Given the description of an element on the screen output the (x, y) to click on. 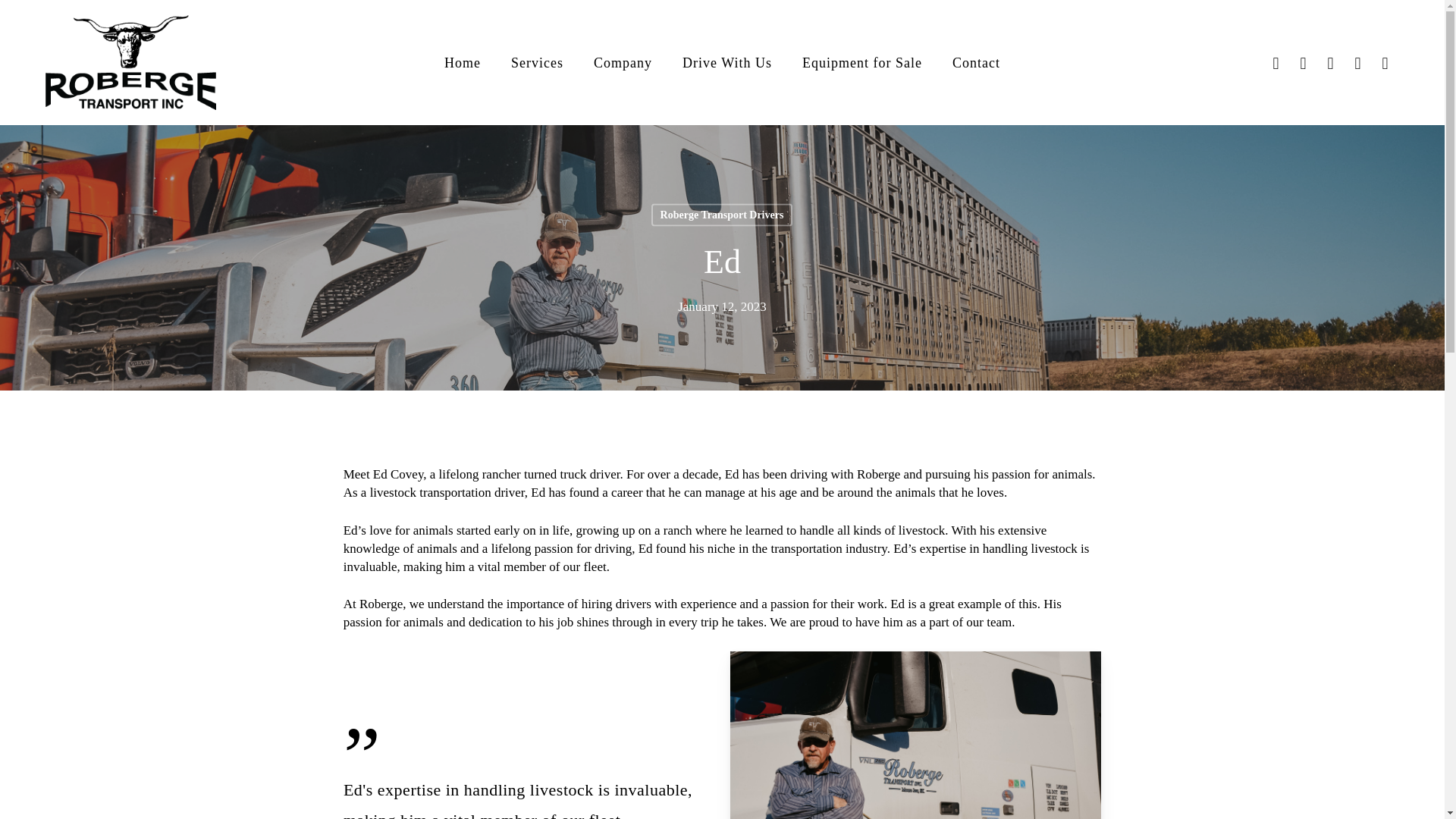
instagram (1357, 63)
Equipment for Sale (861, 62)
Company (623, 62)
Home (462, 62)
Services (537, 62)
Roberge Transport Drivers (721, 214)
youtube (1330, 63)
linkedin (1303, 63)
facebook (1276, 63)
Contact (976, 62)
tiktok (1385, 63)
Drive With Us (726, 62)
